Given the description of an element on the screen output the (x, y) to click on. 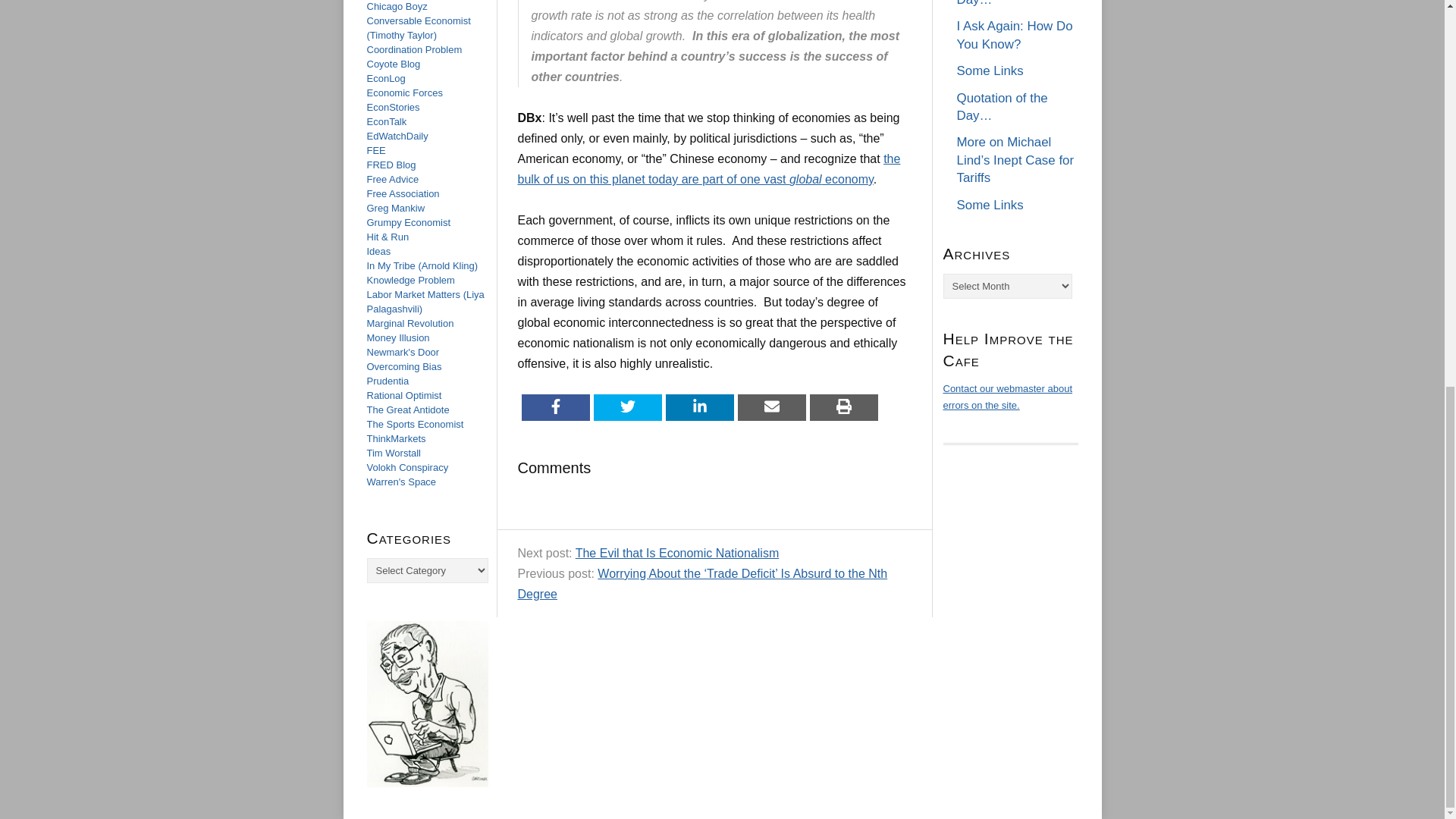
EconLog (386, 78)
Grumpy Economist (408, 222)
Coyote Blog (393, 63)
Newmark's Door (402, 351)
EdWatchDaily (397, 135)
Free Association (402, 193)
FRED Blog (391, 164)
Free Advice (392, 179)
Coordination Problem (414, 49)
Economic Forces (404, 92)
EconTalk (386, 121)
Marginal Revolution (410, 323)
Greg Mankiw (395, 207)
Ideas (378, 251)
Money Illusion (397, 337)
